Given the description of an element on the screen output the (x, y) to click on. 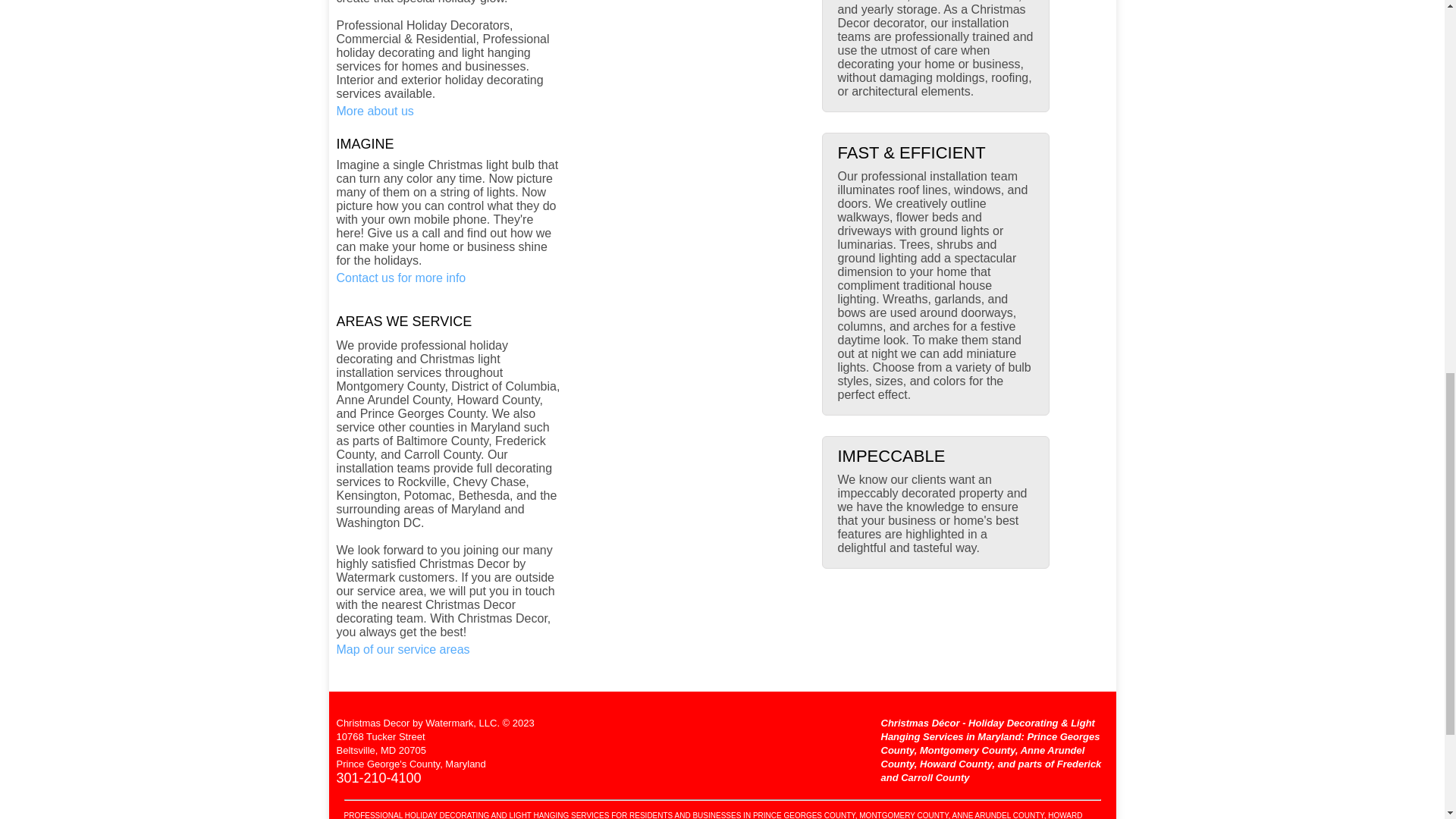
IMPECCABLE (890, 456)
Contact us for more info (400, 277)
Map of our service areas (403, 649)
More about us (374, 110)
